Given the description of an element on the screen output the (x, y) to click on. 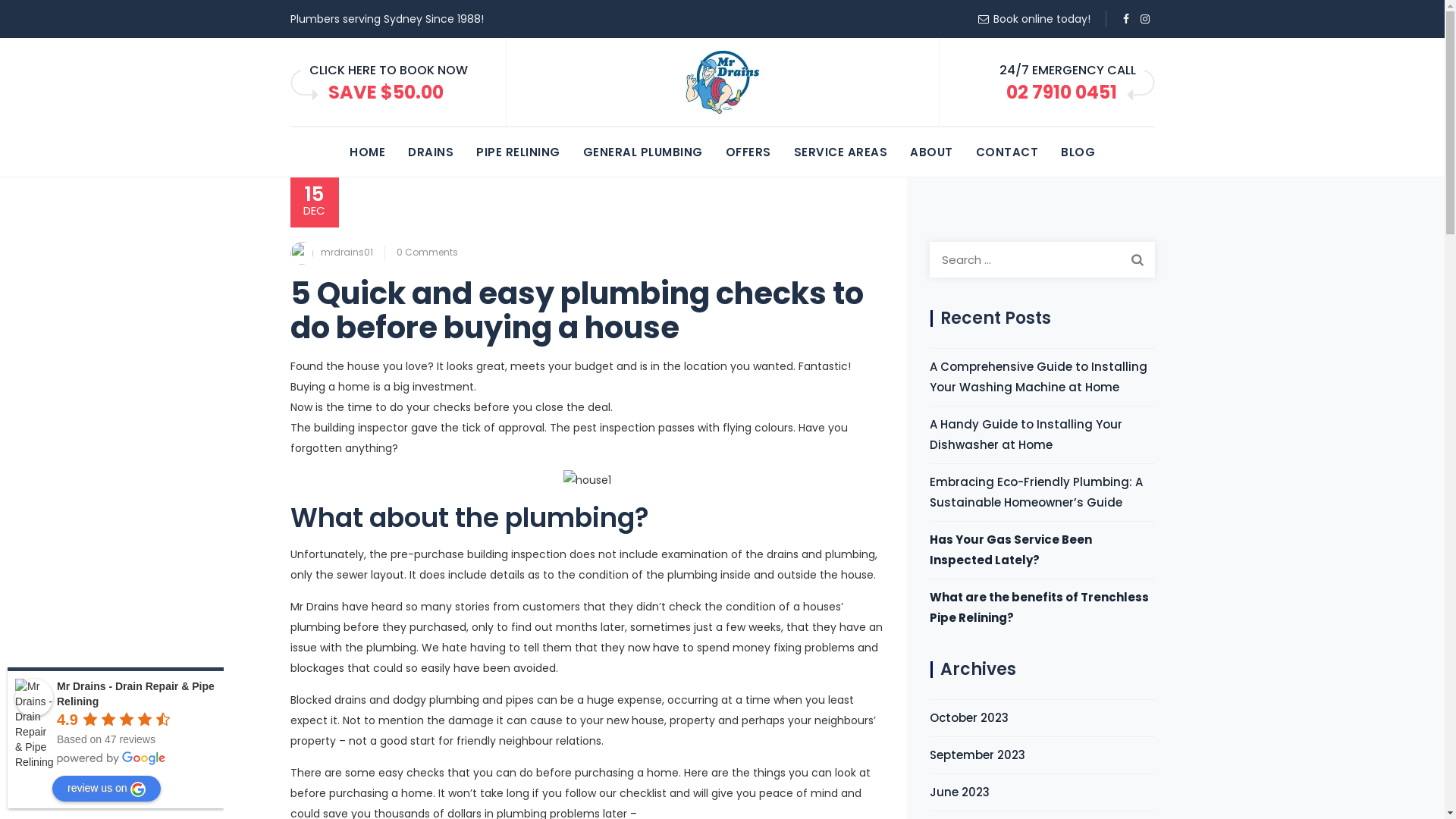
ABOUT Element type: text (931, 151)
CONTACT Element type: text (1006, 151)
What are the benefits of Trenchless Pipe Relining? Element type: text (1041, 606)
review us on Element type: text (106, 788)
October 2023 Element type: text (968, 716)
Search Element type: text (1136, 258)
September 2023 Element type: text (977, 754)
powered by Google Element type: hover (111, 758)
Mr Drains Element type: hover (721, 82)
SERVICE AREAS Element type: text (840, 151)
Mr Drains - Drain Repair & Pipe Relining Element type: text (135, 693)
DRAINS Element type: text (430, 151)
CLICK HERE TO BOOK NOW Element type: text (388, 69)
Has Your Gas Service Been Inspected Lately? Element type: text (1041, 549)
Book online today! Element type: text (1041, 18)
PIPE RELINING Element type: text (518, 151)
June 2023 Element type: text (959, 791)
A Handy Guide to Installing Your Dishwasher at Home Element type: text (1041, 434)
BLOG Element type: text (1077, 151)
SAVE $50.00 Element type: text (384, 91)
OFFERS Element type: text (747, 151)
GENERAL PLUMBING Element type: text (642, 151)
5 Quick and easy plumbing checks to do before buying a house Element type: text (575, 309)
0 Comments Element type: text (426, 251)
HOME Element type: text (367, 151)
GIVING BACK Element type: text (721, 200)
mrdrains01 Element type: text (346, 251)
Mr Drains - Drain Repair & Pipe Relining Element type: hover (34, 697)
